Given the description of an element on the screen output the (x, y) to click on. 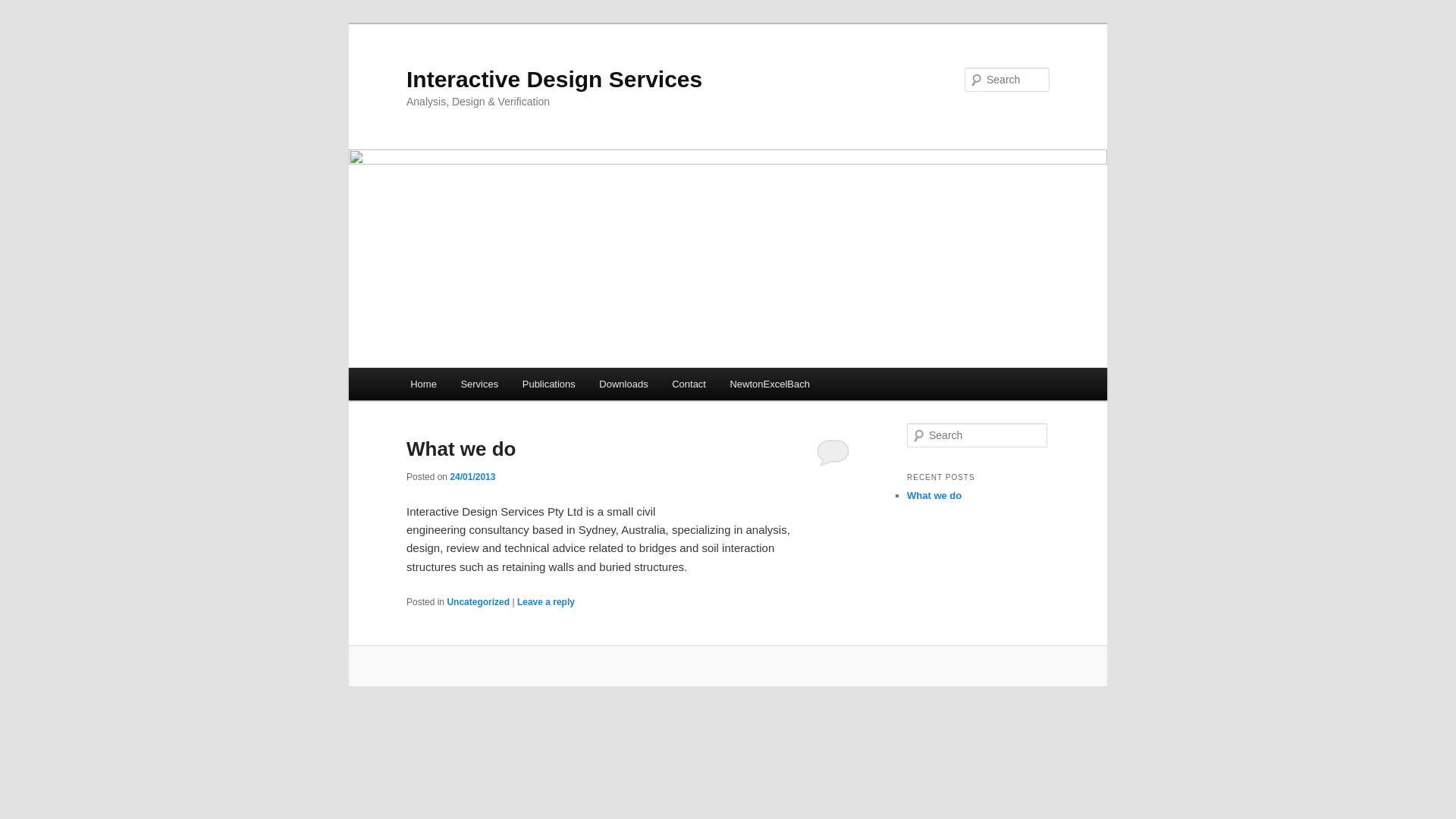
Publications Element type: text (548, 383)
Comment on What we do Element type: hover (832, 451)
Downloads Element type: text (623, 383)
Services Element type: text (479, 383)
24/01/2013 Element type: text (472, 476)
Interactive Design Services Element type: text (554, 78)
Uncategorized Element type: text (477, 601)
Contact Element type: text (688, 383)
Skip to primary content Element type: text (478, 386)
What we do Element type: text (460, 448)
Leave a reply Element type: text (545, 601)
What we do Element type: text (933, 495)
NewtonExcelBach Element type: text (770, 383)
Search Element type: text (20, 10)
Skip to secondary content Element type: text (485, 386)
Search Element type: text (24, 8)
Home Element type: text (423, 383)
